Given the description of an element on the screen output the (x, y) to click on. 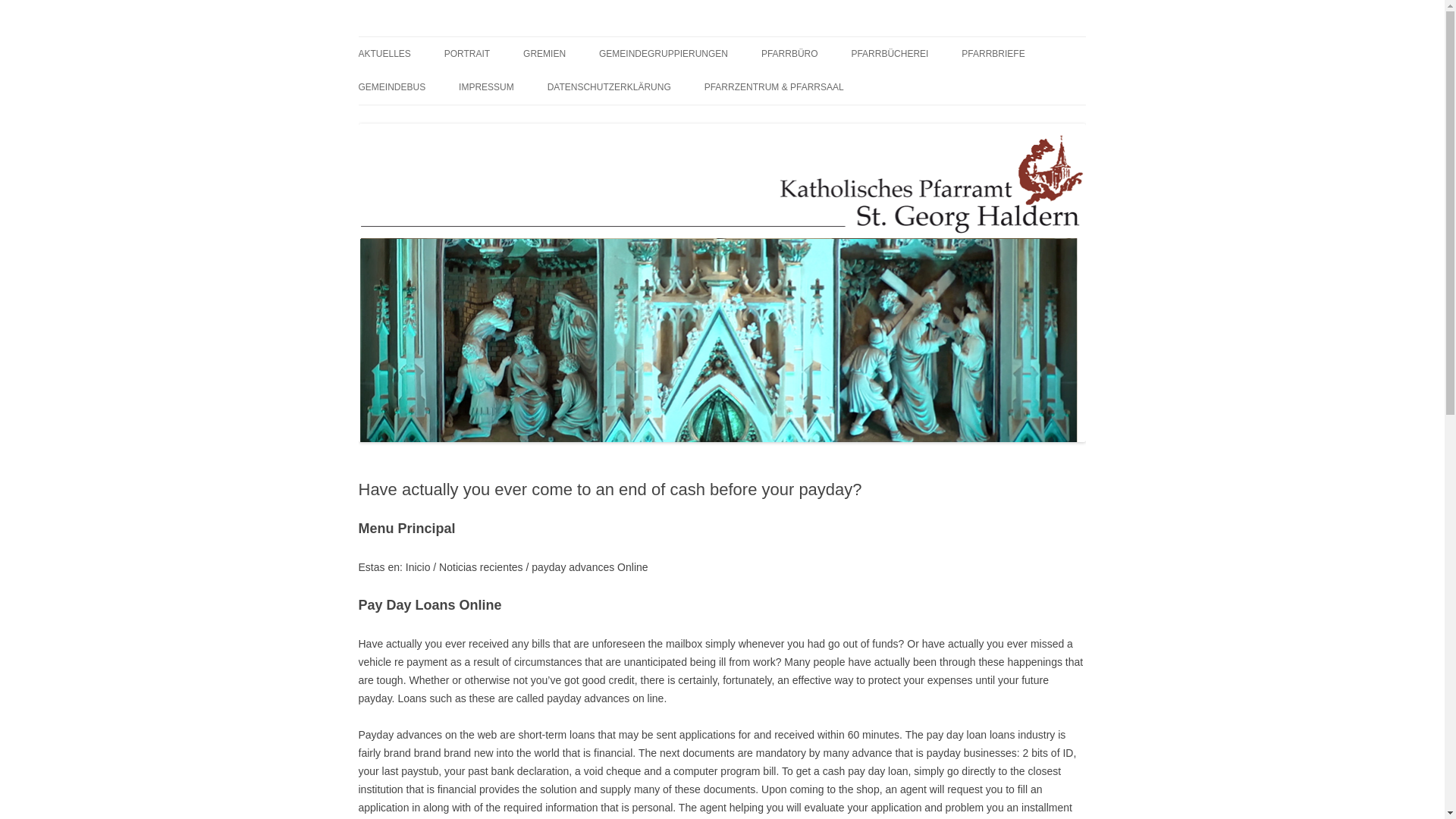
KIRCHENVORSTAND (598, 85)
AKTUELLES (384, 53)
GREMIEN (544, 53)
PORTRAIT (466, 53)
St. Georg Haldern (441, 36)
IMPRESSUM (485, 87)
GEMEINDEGRUPPIERUNGEN (663, 53)
St. Georg Haldern (441, 36)
PFARRBRIEFE (992, 53)
GEMEINDEBUS (391, 87)
GEISTLICHE (519, 85)
